Given the description of an element on the screen output the (x, y) to click on. 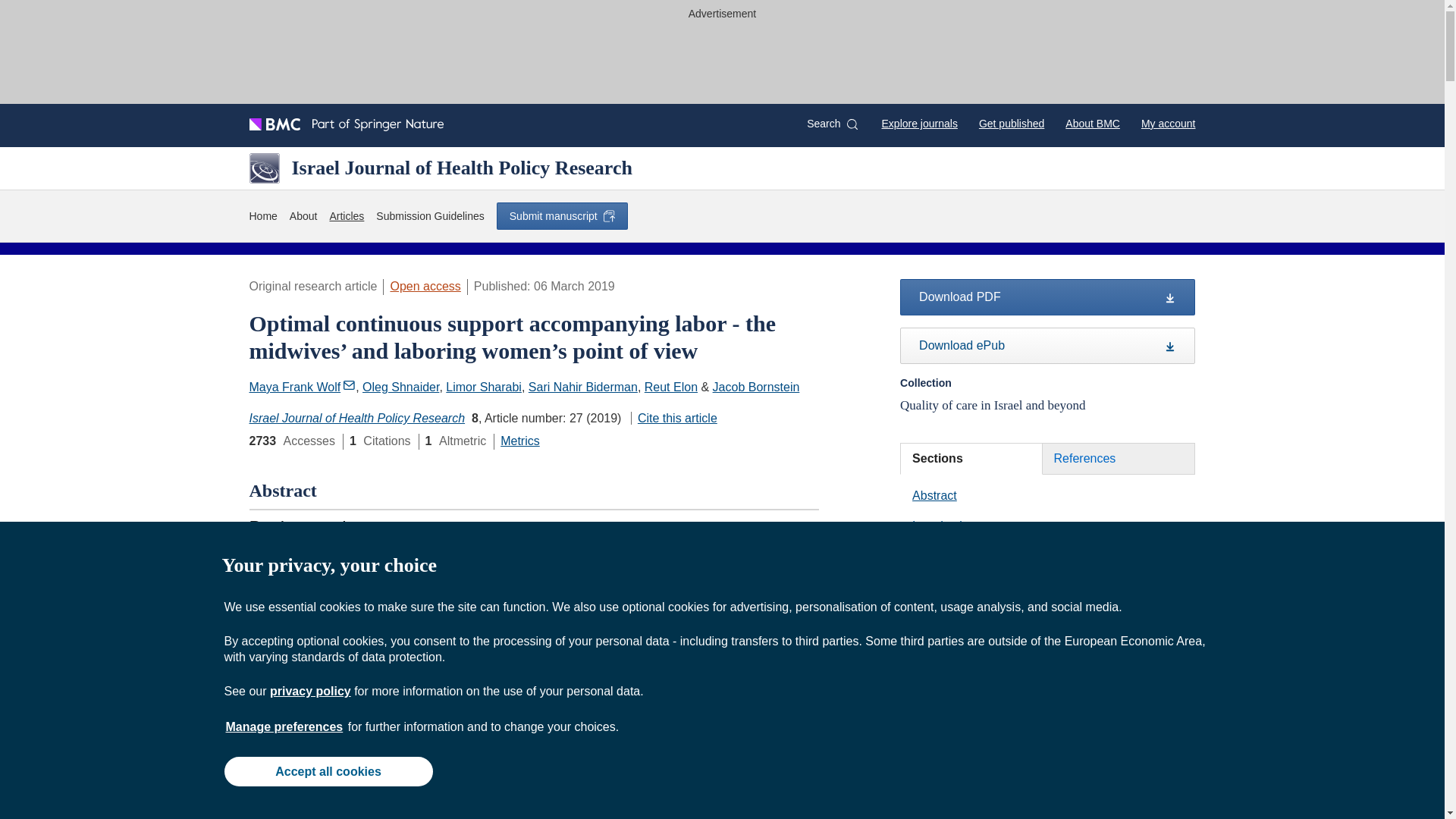
Jacob Bornstein (756, 386)
Open access (425, 286)
Israel Journal of Health Policy Research (439, 168)
Submission Guidelines (429, 216)
Get published (1010, 123)
Manage preferences (284, 726)
Cite this article (673, 418)
Reut Elon (671, 386)
Israel Journal of Health Policy Research (356, 418)
Metrics (520, 440)
privacy policy (309, 690)
Limor Sharabi (483, 386)
Home (262, 216)
Submit manuscript (561, 216)
Accept all cookies (328, 771)
